Given the description of an element on the screen output the (x, y) to click on. 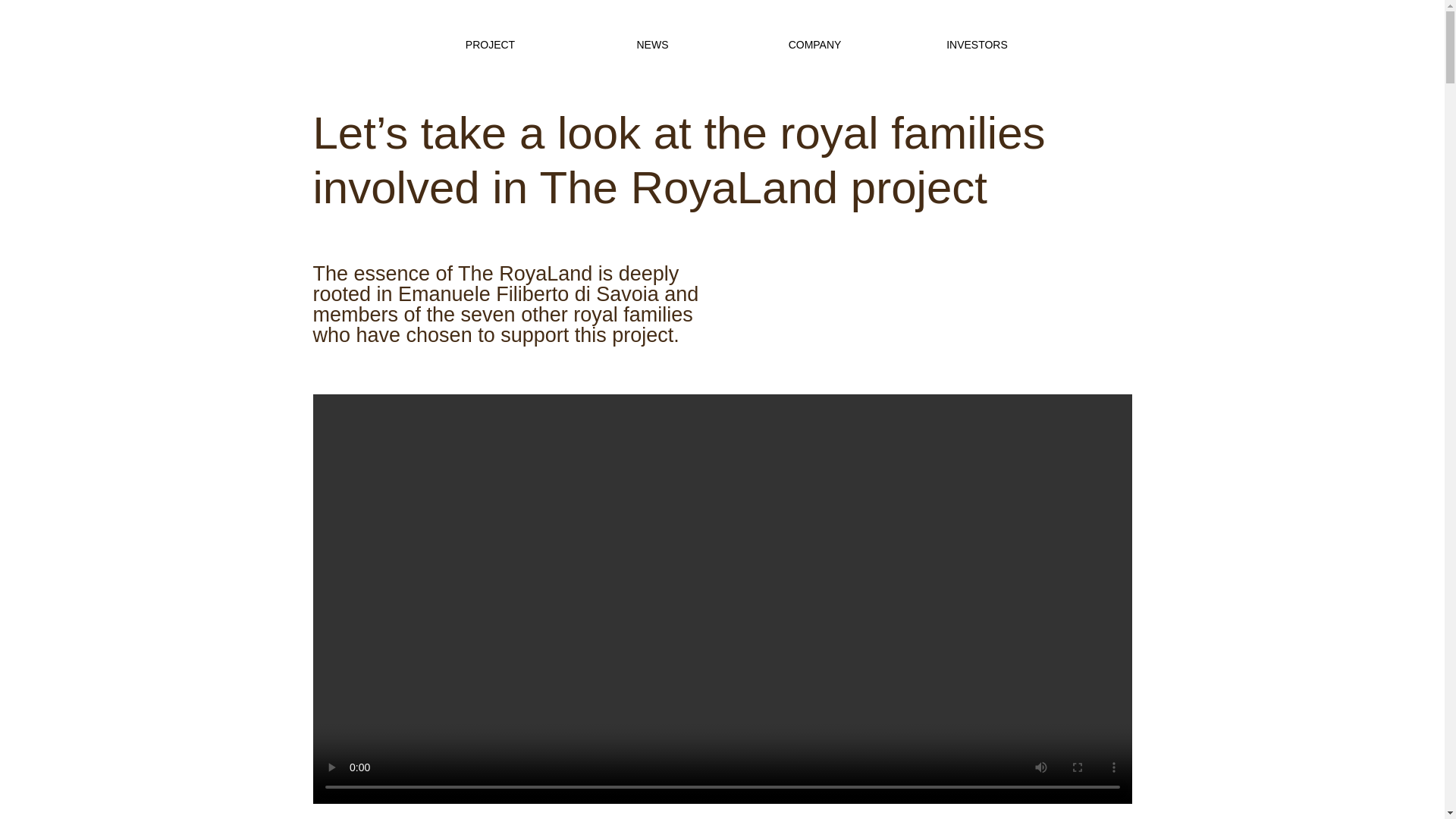
COMPANY (814, 44)
INVESTORS (977, 44)
NEWS (652, 44)
PROJECT (490, 44)
